Given the description of an element on the screen output the (x, y) to click on. 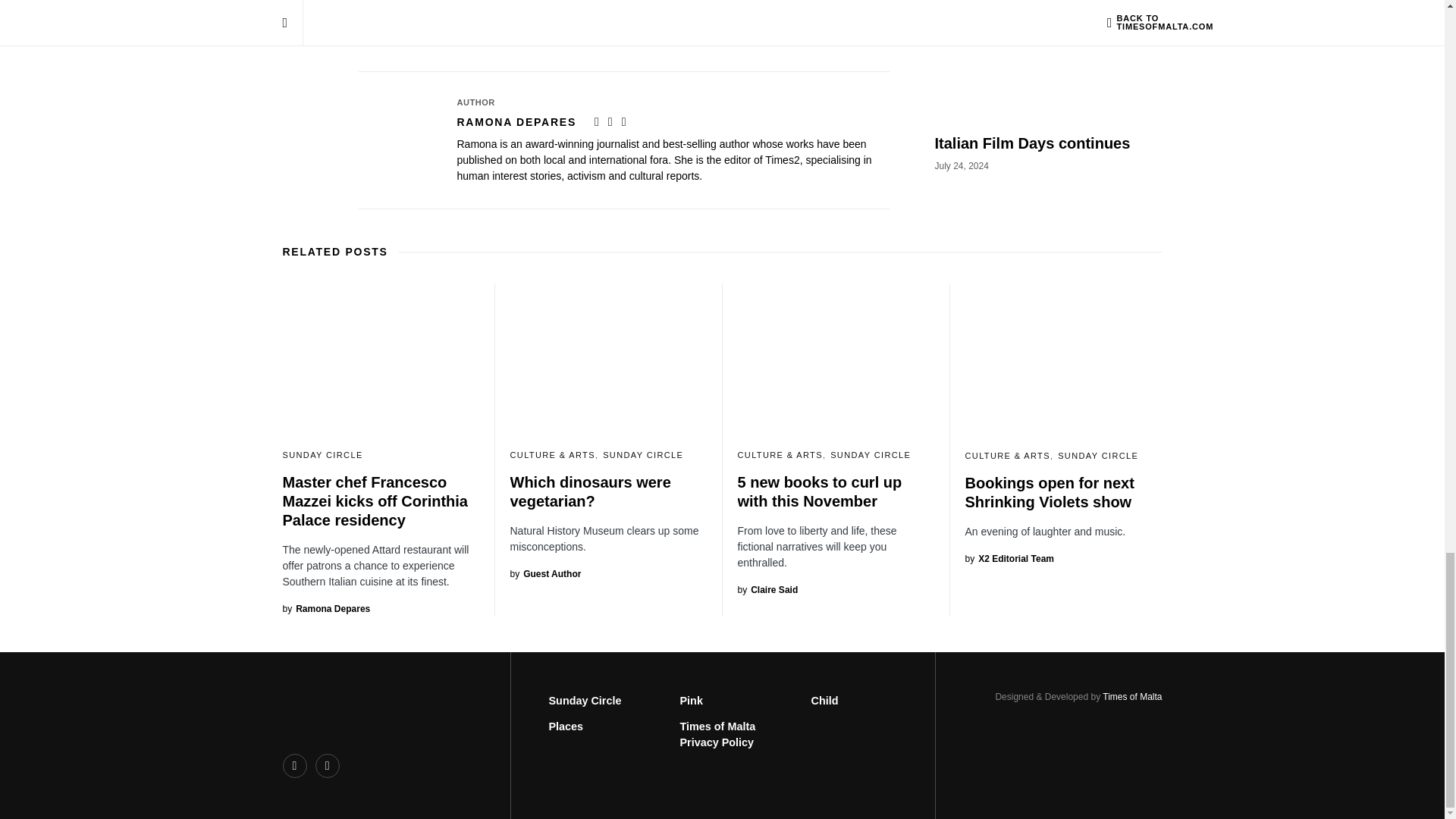
View all posts by Guest Author (544, 573)
View all posts by X2 Editorial Team (1008, 558)
View all posts by Ramona Depares (325, 608)
View all posts by Claire Said (766, 590)
